Given the description of an element on the screen output the (x, y) to click on. 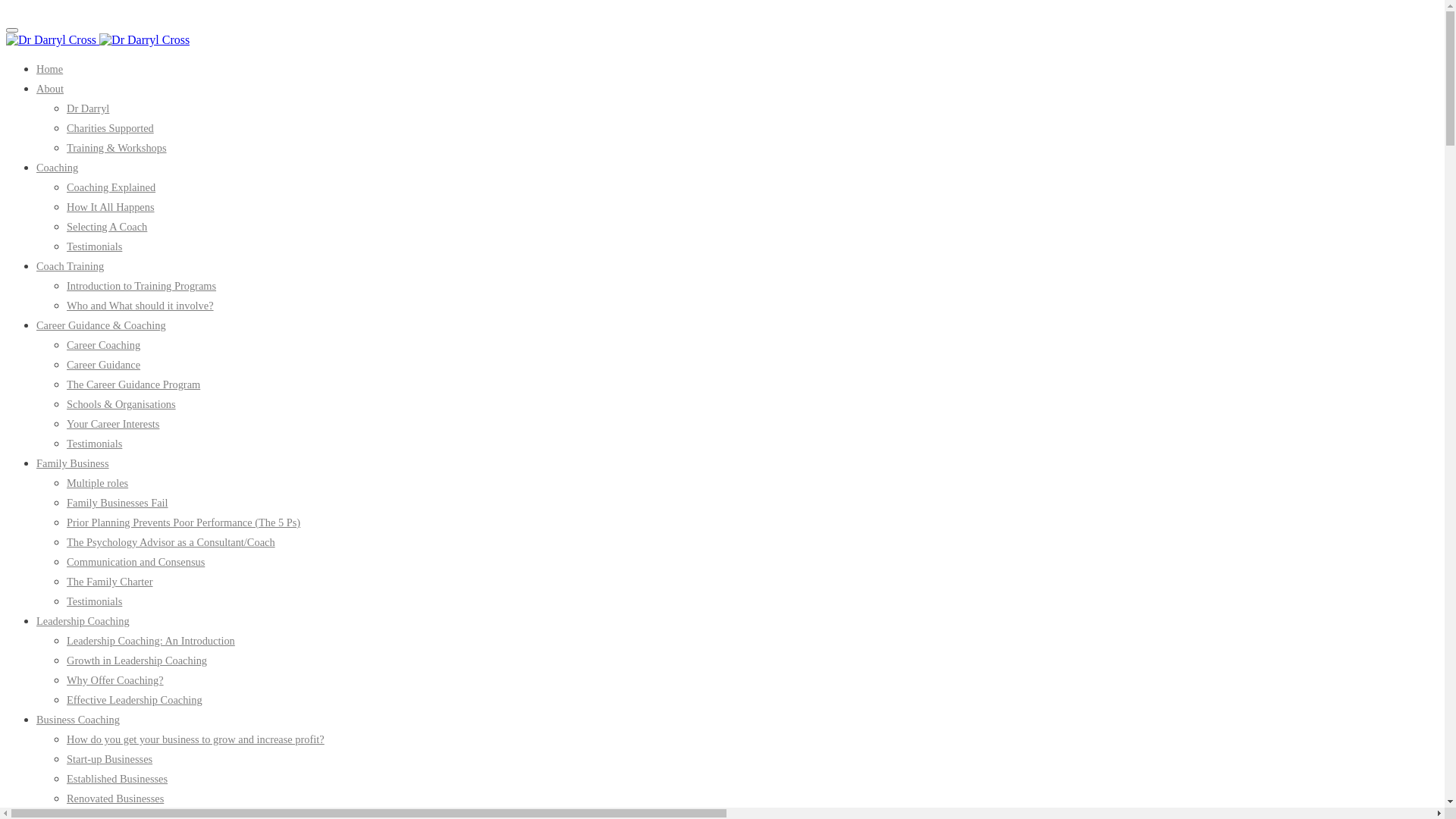
The Career Guidance Program Element type: text (133, 384)
Business Coaching Element type: text (77, 719)
Career Coaching Element type: text (103, 344)
Growth in Leadership Coaching Element type: text (136, 660)
Dr Darryl Element type: text (87, 108)
How It All Happens Element type: text (110, 206)
Family Businesses Fail Element type: text (117, 502)
About Element type: text (49, 88)
Family Business Element type: text (72, 463)
Introduction to Training Programs Element type: text (141, 285)
Schools & Organisations Element type: text (120, 404)
Career Guidance & Coaching Element type: text (101, 325)
Leadership Coaching Element type: text (82, 621)
Established Businesses Element type: text (116, 778)
Coaching Element type: text (57, 167)
Charities Supported Element type: text (109, 128)
Leadership Coaching: An Introduction Element type: text (150, 640)
Home Element type: text (49, 68)
Testimonials Element type: text (94, 443)
Your Career Interests Element type: text (112, 423)
Communication and Consensus Element type: text (135, 561)
Prior Planning Prevents Poor Performance (The 5 Ps) Element type: text (183, 522)
How do you get your business to grow and increase profit? Element type: text (195, 739)
Career Guidance Element type: text (103, 364)
Who and What should it involve? Element type: text (139, 305)
The Family Charter Element type: text (109, 581)
Start-up Businesses Element type: text (109, 759)
Training & Workshops Element type: text (116, 147)
Testimonials Element type: text (94, 246)
Multiple roles Element type: text (97, 482)
Effective Leadership Coaching Element type: text (134, 699)
Renovated Businesses Element type: text (114, 798)
Coach Training Element type: text (69, 266)
Testimonials Element type: text (94, 601)
The Psychology Advisor as a Consultant/Coach Element type: text (170, 542)
Selecting A Coach Element type: text (106, 226)
Menu Element type: text (12, 30)
Coaching Explained Element type: text (110, 187)
Why Offer Coaching? Element type: text (114, 680)
